Given the description of an element on the screen output the (x, y) to click on. 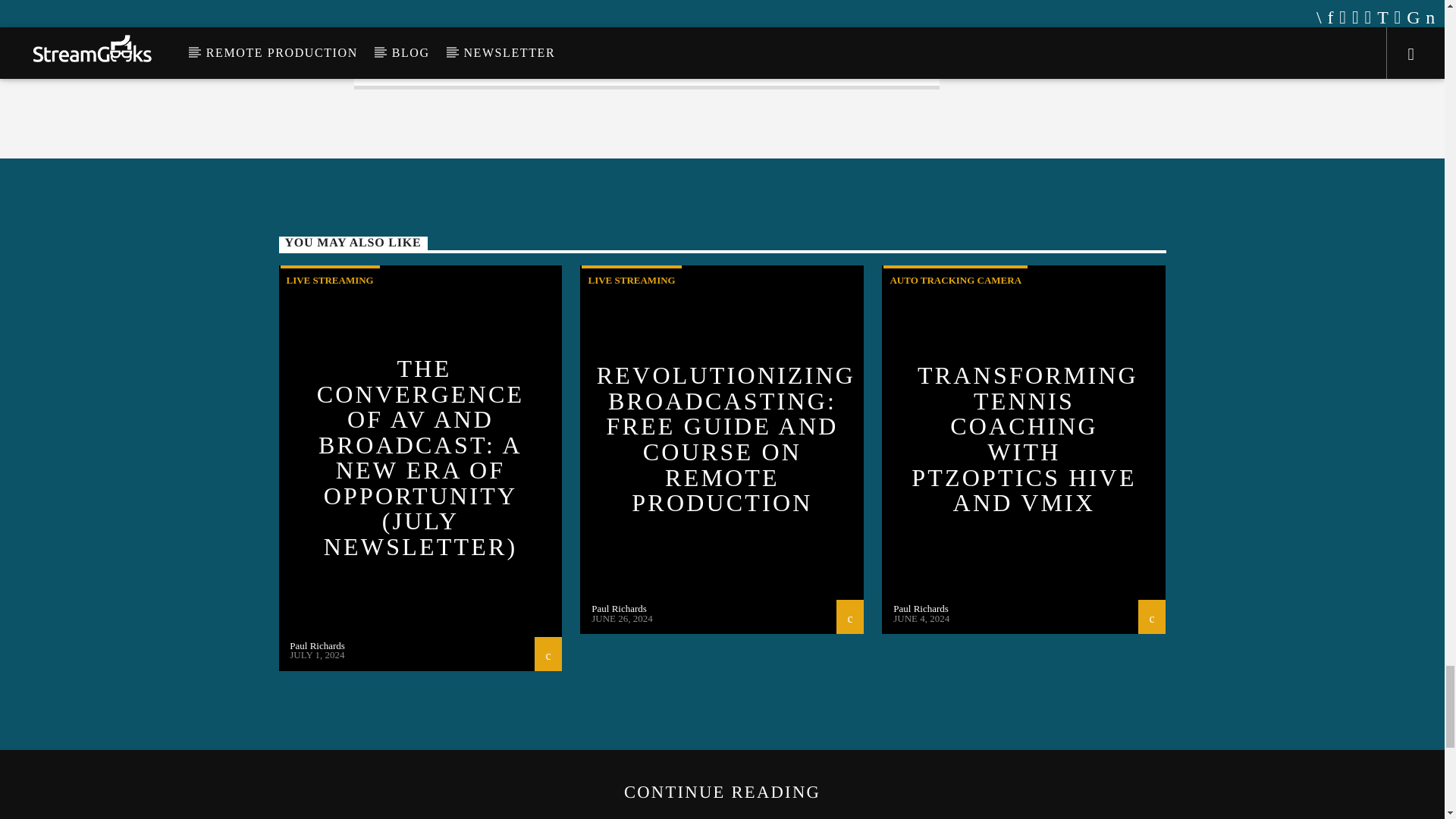
Posts by Paul Richards (317, 645)
Posts by Paul Richards (921, 608)
Posts by Paul Richards (618, 608)
